Given the description of an element on the screen output the (x, y) to click on. 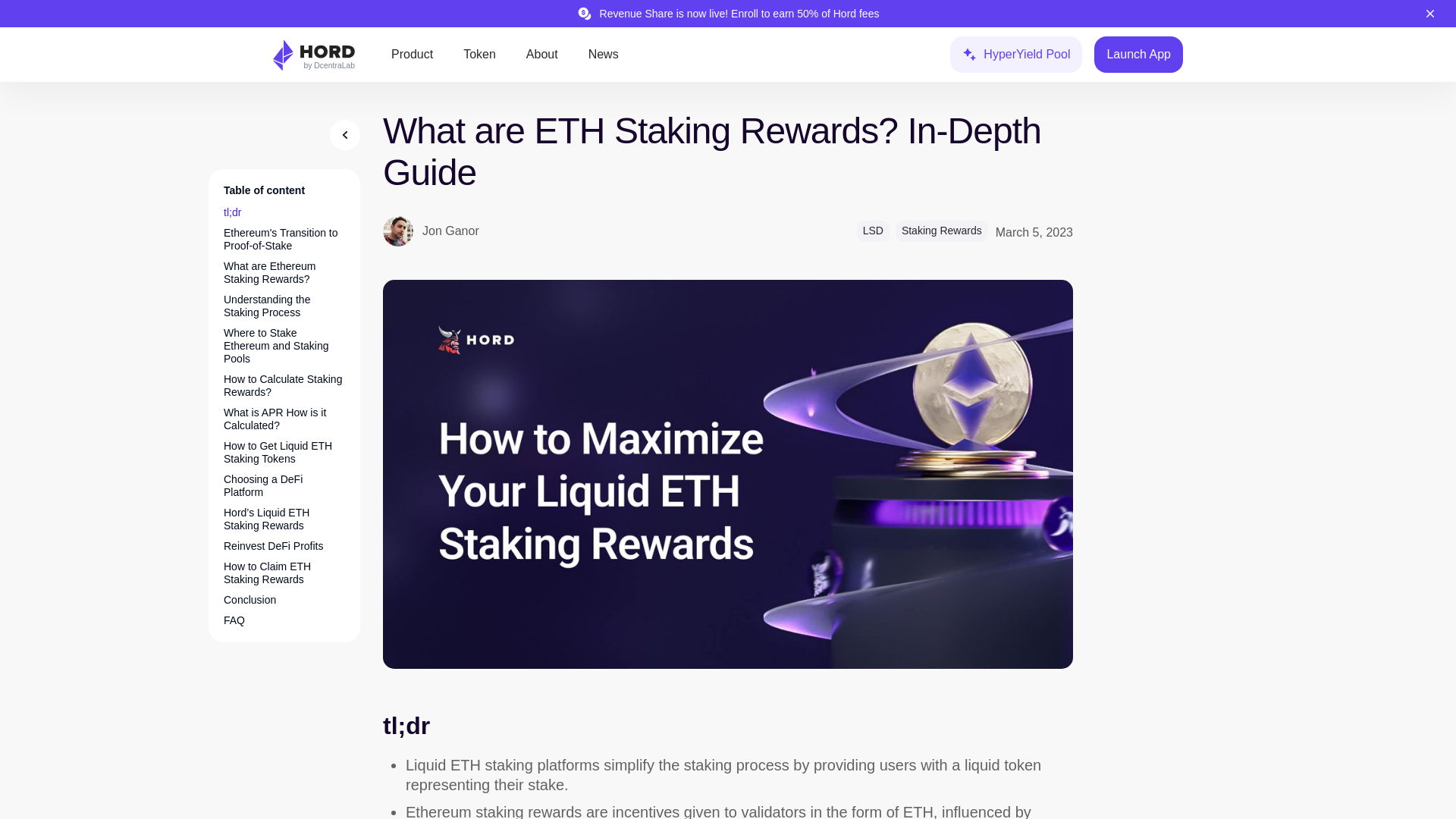
Reinvest DeFi Profits (273, 545)
Jon Ganor (430, 231)
What is APR How is it Calculated? (284, 419)
Staking Rewards (941, 230)
Ethereum's Transition to Proof-of-Stake (284, 239)
Where to Stake Ethereum and Staking Pools (284, 345)
How to Claim ETH Staking Rewards (284, 573)
Understanding the Staking Process (284, 306)
Launch App (1138, 54)
Choosing a DeFi Platform  (284, 485)
How to Calculate Staking Rewards? (284, 385)
by DcentraLab (329, 65)
HyperYield Pool (1015, 54)
How to Get Liquid ETH Staking Tokens  (284, 452)
tl;dr (232, 212)
